Given the description of an element on the screen output the (x, y) to click on. 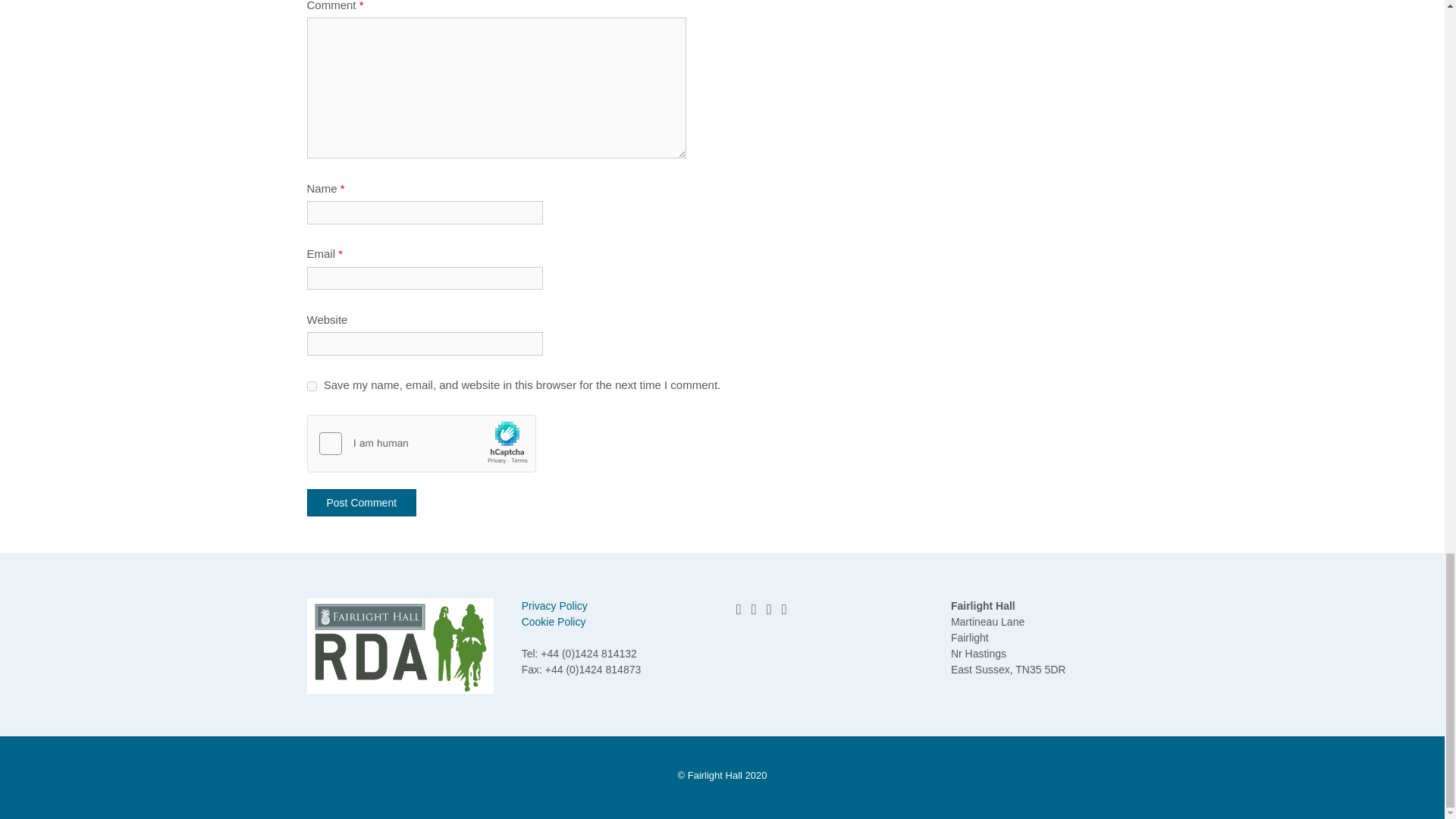
fairlight rda logo copy (399, 645)
Privacy Policy (554, 605)
Post Comment (360, 502)
yes (310, 386)
Post Comment (360, 502)
Cookie Policy (553, 621)
